Given the description of an element on the screen output the (x, y) to click on. 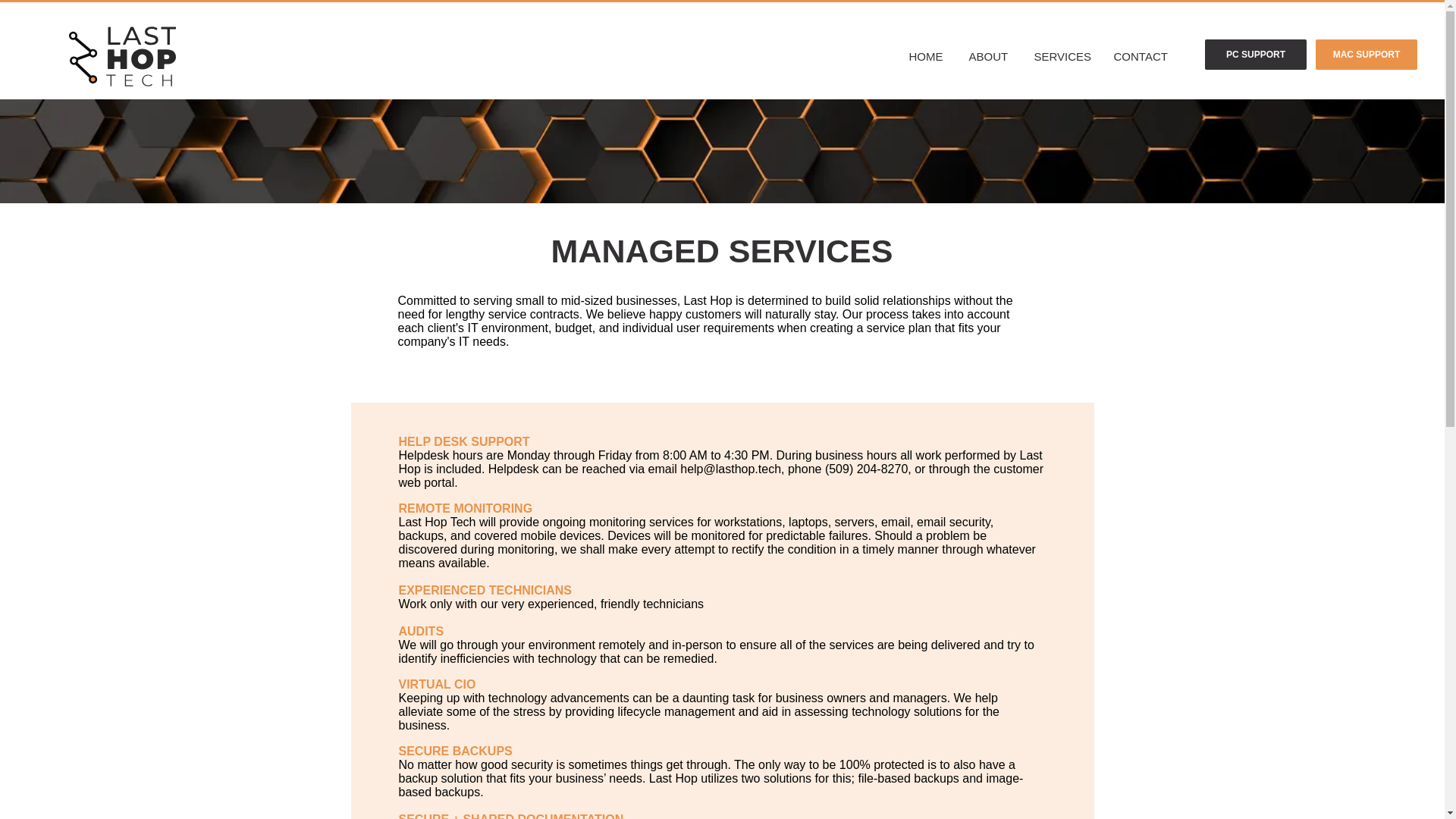
PC SUPPORT (1255, 54)
HOME (928, 56)
CONTACT (1142, 56)
MAC SUPPORT (1366, 54)
ABOUT (989, 56)
